Given the description of an element on the screen output the (x, y) to click on. 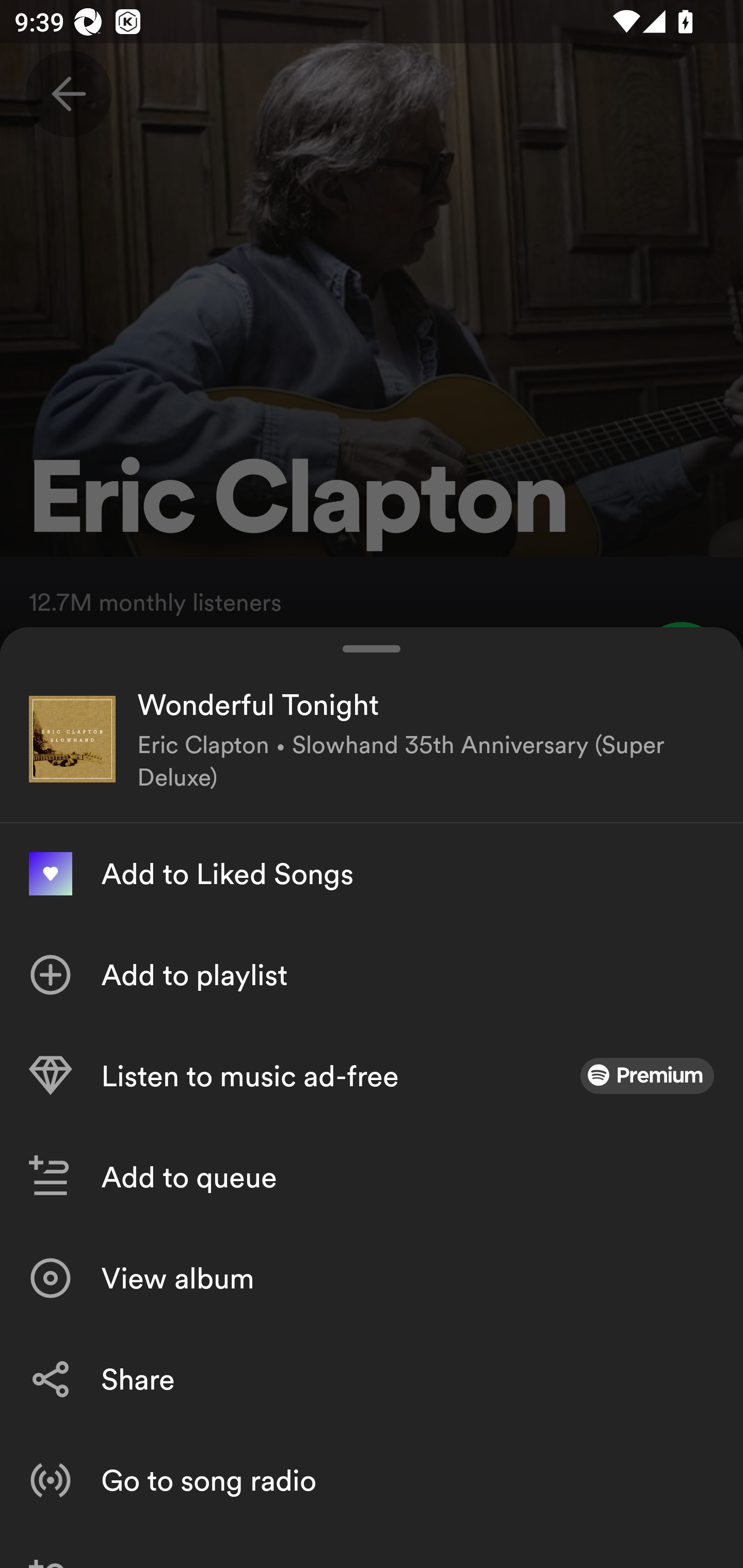
Add to Liked Songs (371, 873)
Add to playlist (371, 974)
Listen to music ad-free (371, 1075)
Add to queue (371, 1176)
View album (371, 1277)
Share (371, 1379)
Go to song radio (371, 1480)
